Given the description of an element on the screen output the (x, y) to click on. 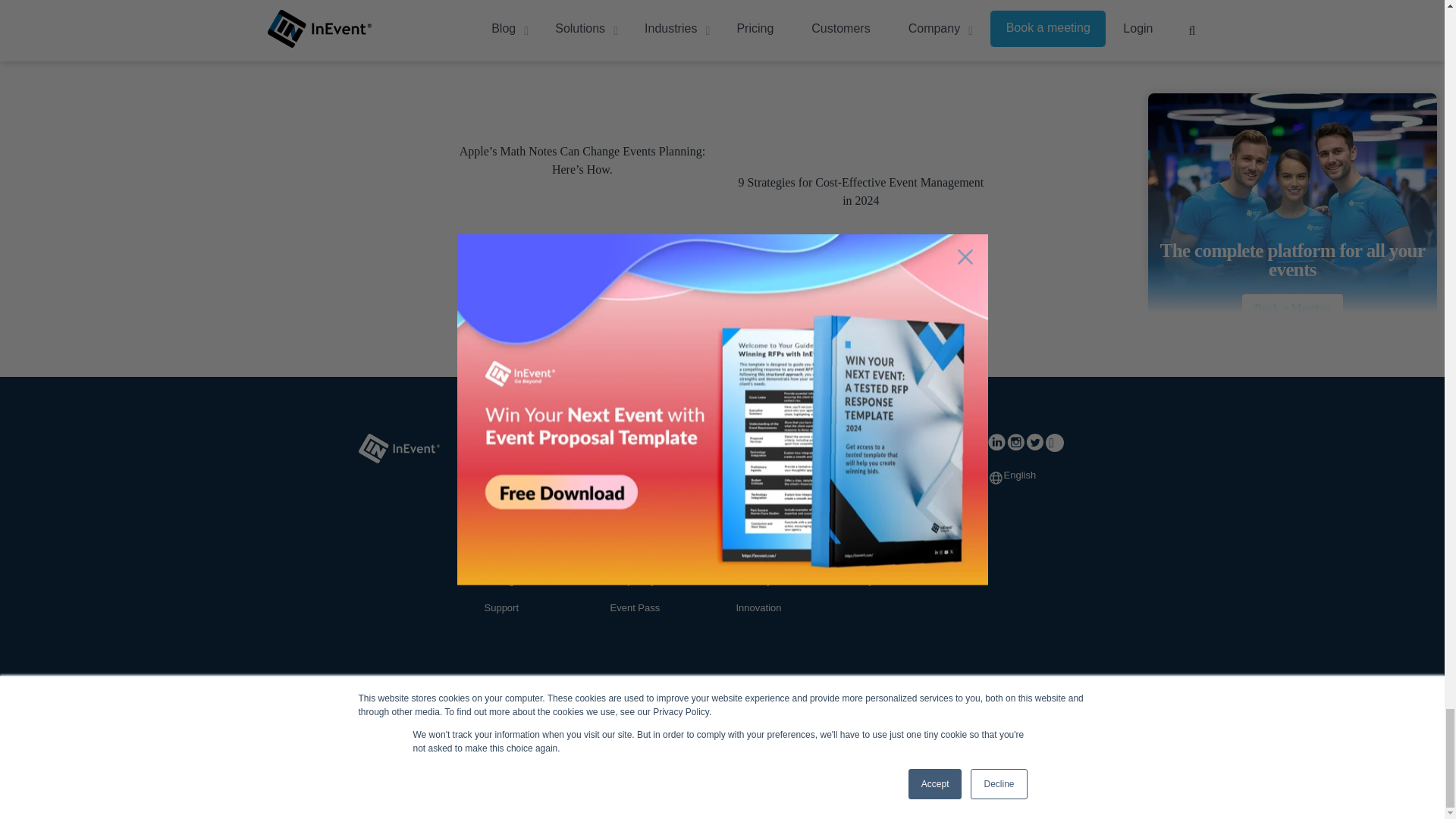
9 Strategies for Cost-Effective Event Management in 2024 (861, 191)
9 Strategies for Cost-Effective Event Management in 2024 (861, 83)
